Given the description of an element on the screen output the (x, y) to click on. 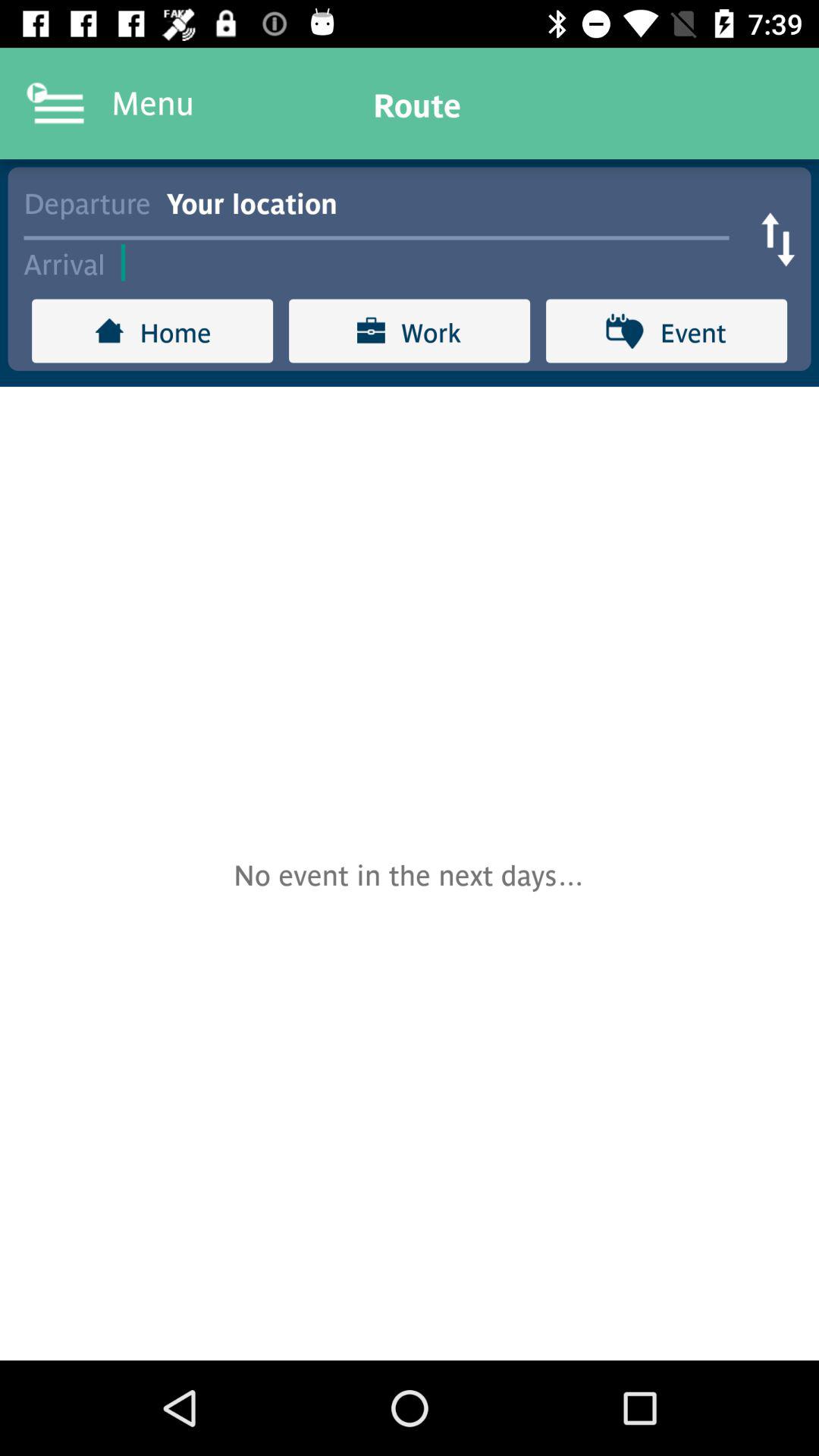
choose item below the route item (455, 201)
